Given the description of an element on the screen output the (x, y) to click on. 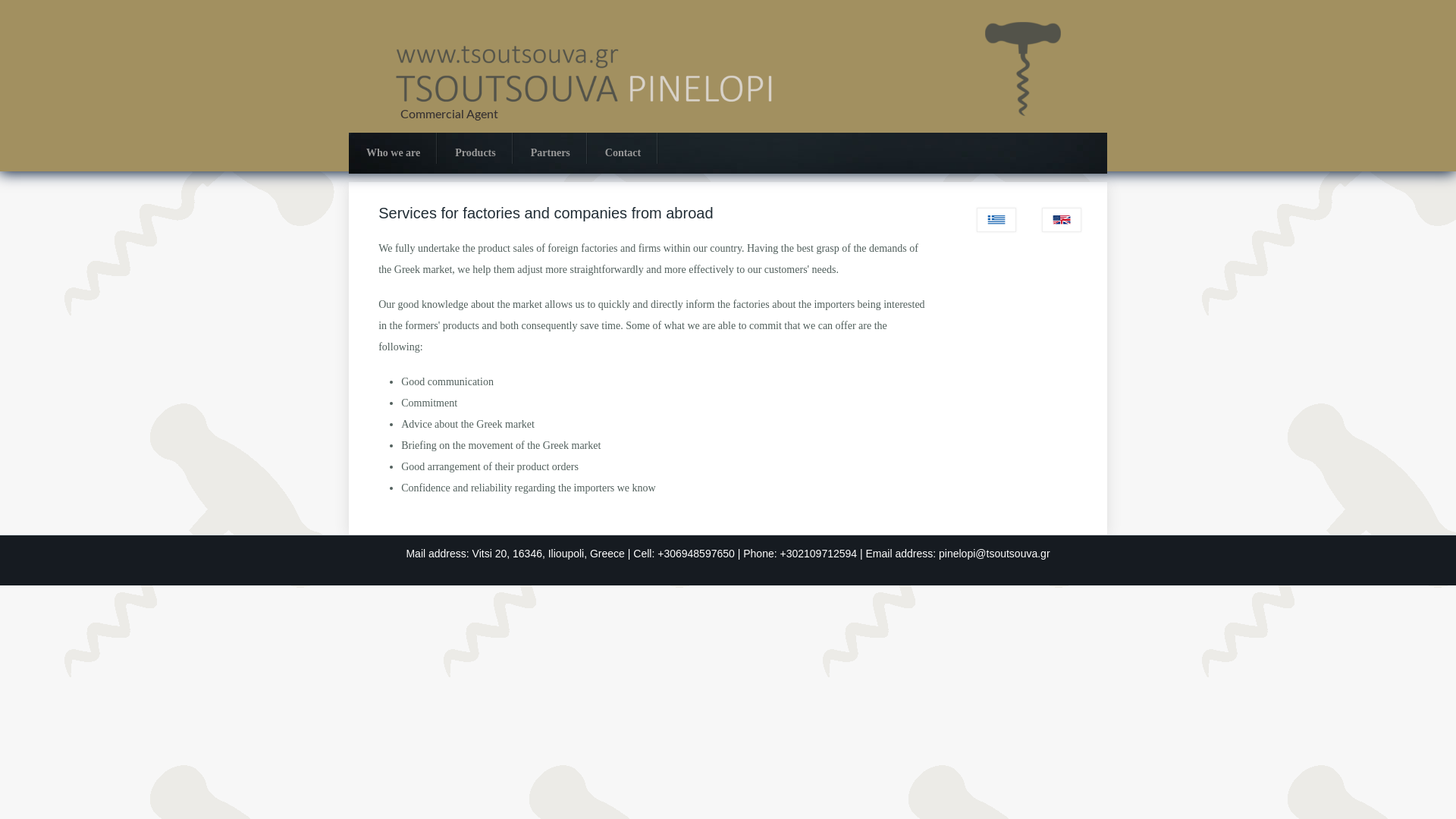
Products (475, 152)
Services for factories and companies from abroad (1061, 228)
English (1061, 219)
Who we are (393, 152)
Home (727, 129)
Contact (623, 152)
Partners (550, 152)
